Given the description of an element on the screen output the (x, y) to click on. 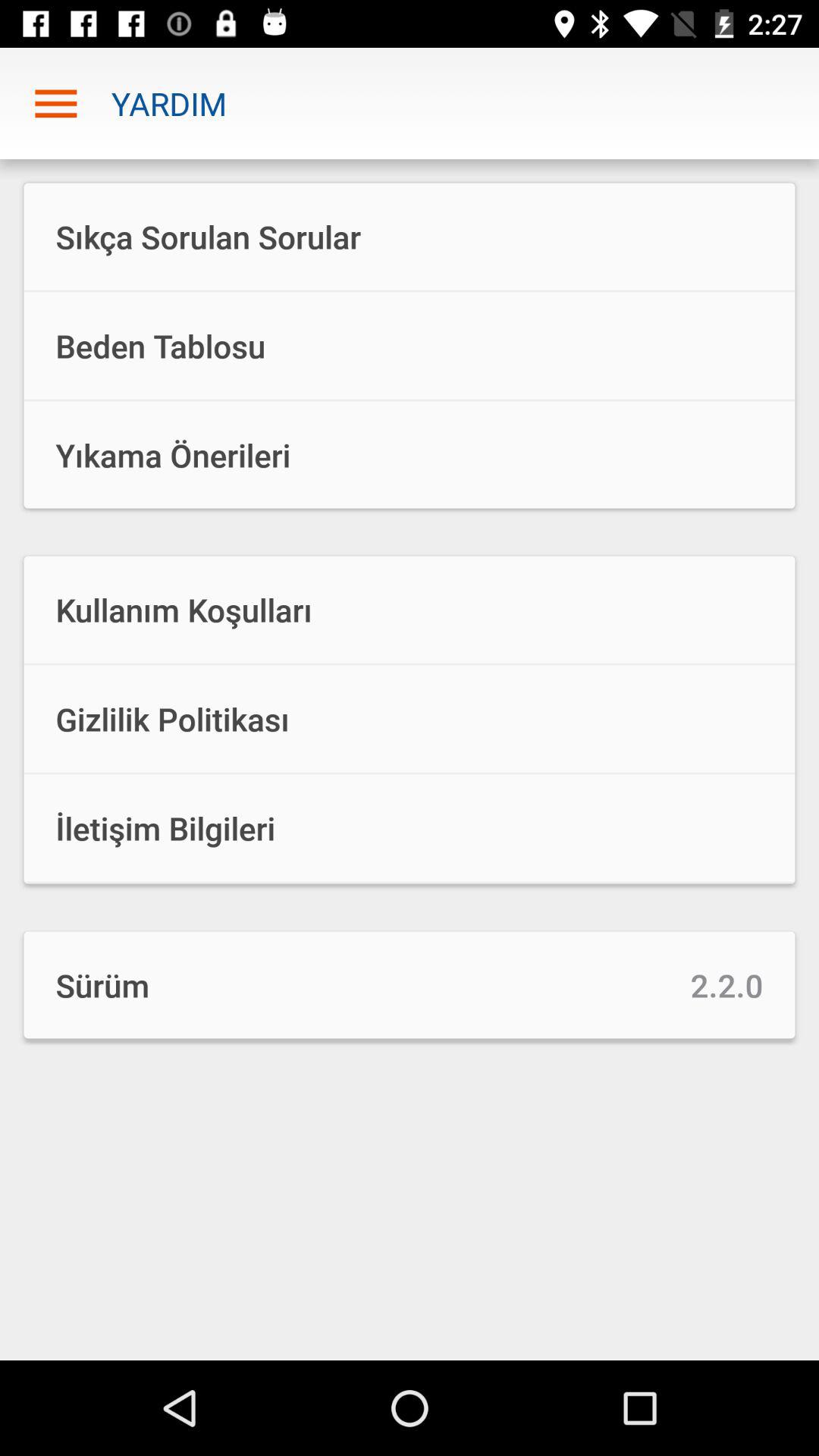
turn on the beden tablosu item (409, 345)
